Given the description of an element on the screen output the (x, y) to click on. 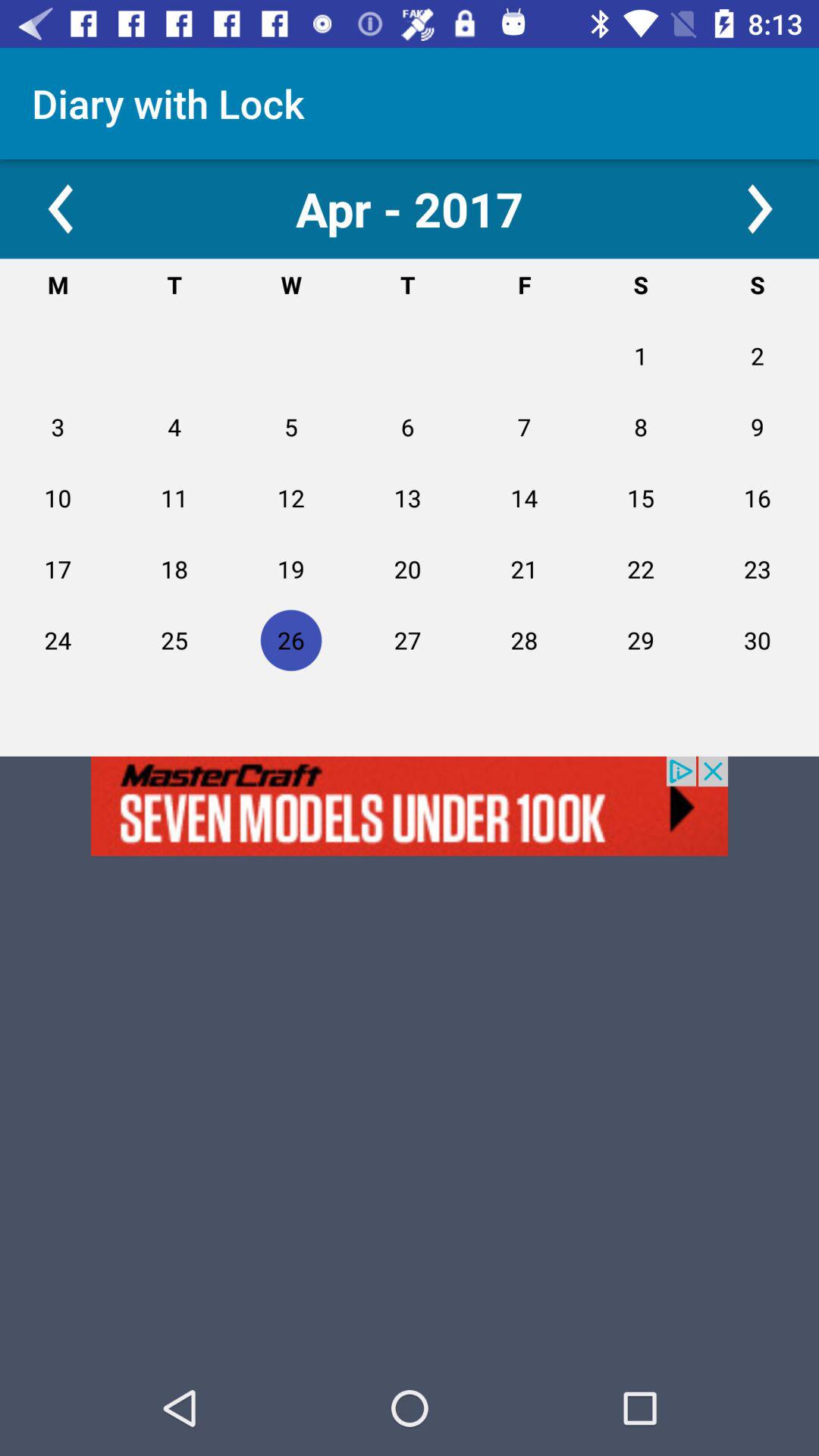
go to next option (759, 208)
